Given the description of an element on the screen output the (x, y) to click on. 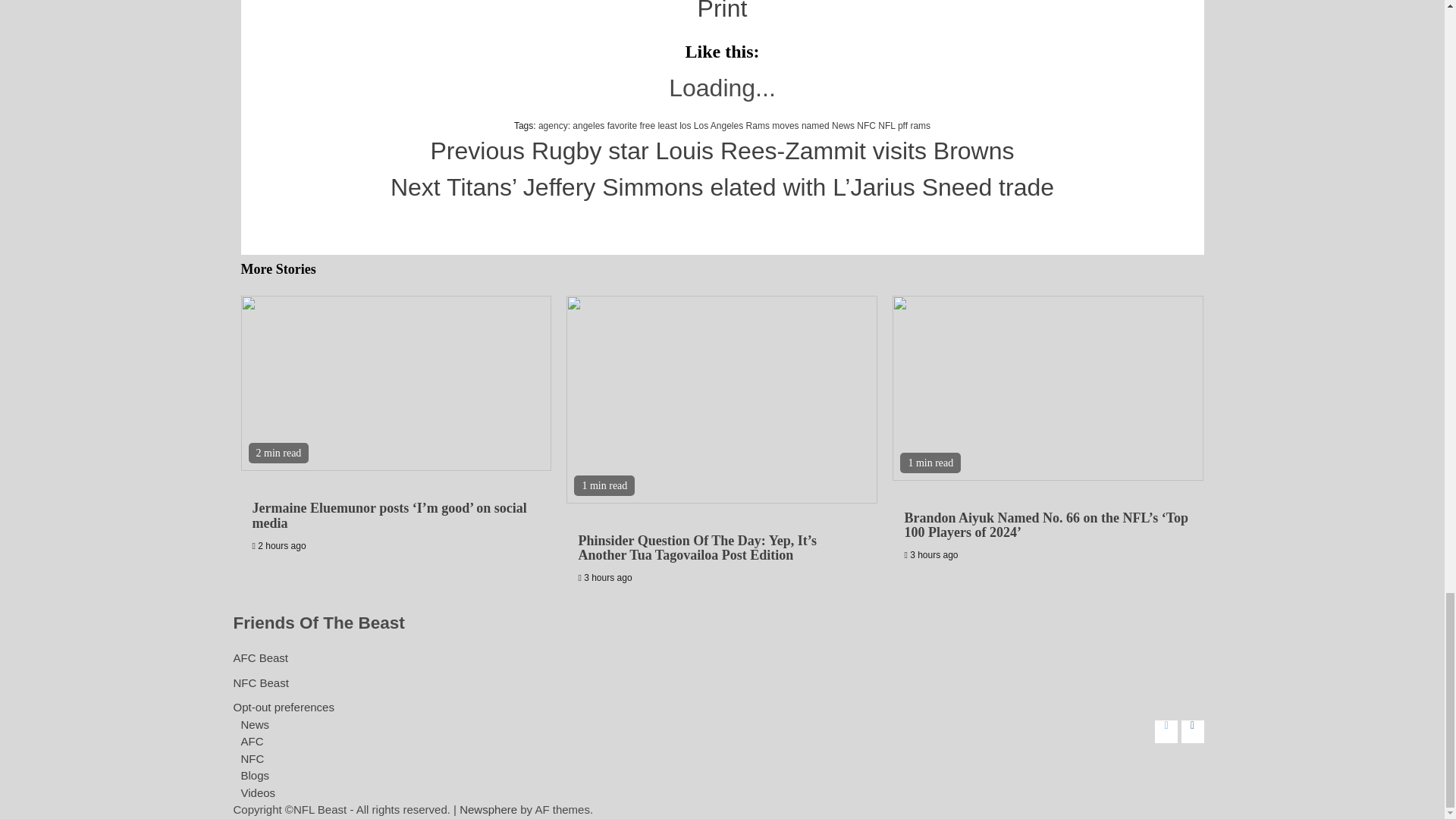
Click to print (722, 11)
